Given the description of an element on the screen output the (x, y) to click on. 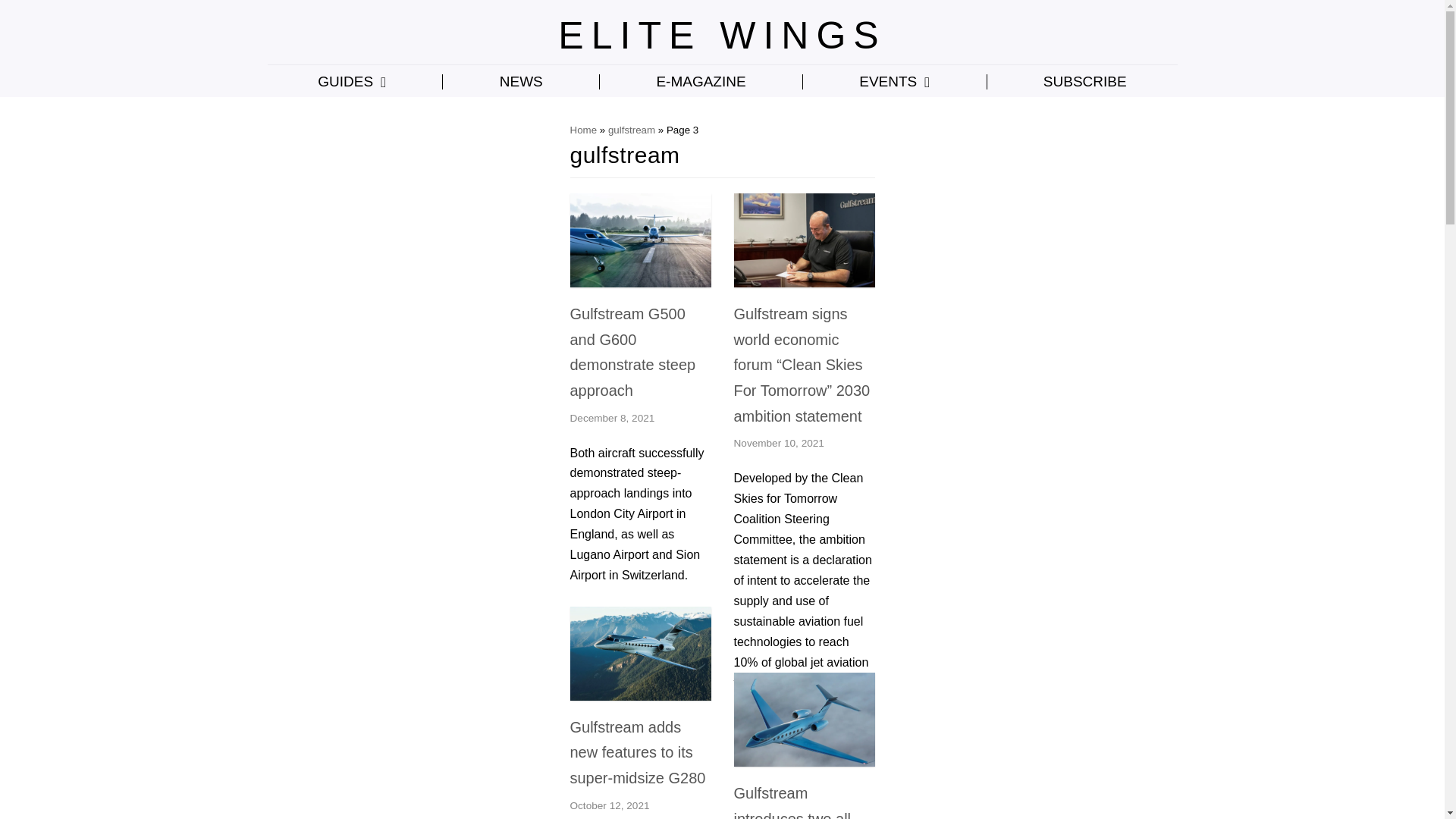
ELITE WINGS (721, 35)
Gulfstream adds new features to its super-midsize G280 (640, 696)
Gulfstream G500 and G600 demonstrate steep approach (640, 282)
Skip to content (15, 7)
